Given the description of an element on the screen output the (x, y) to click on. 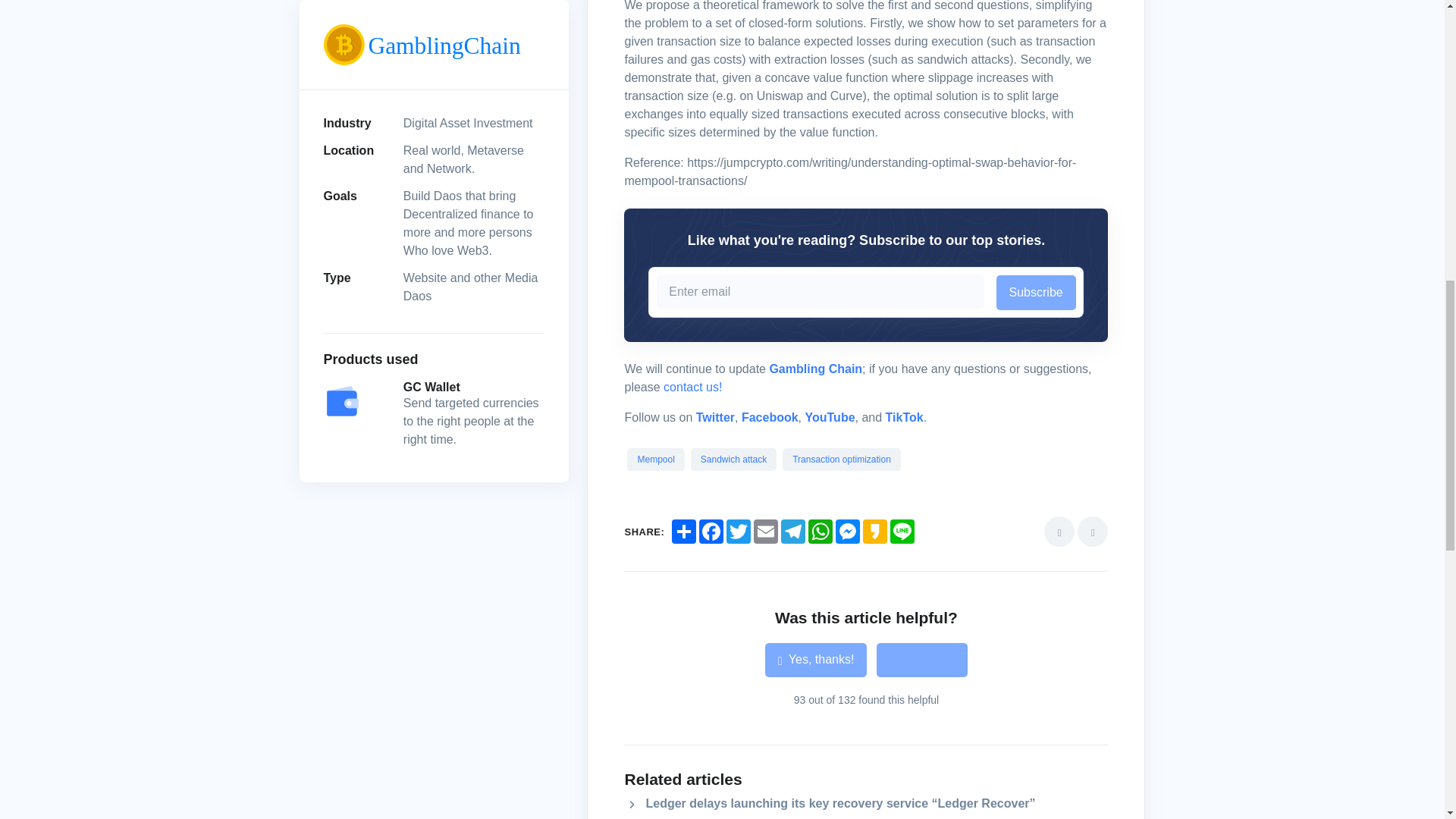
Twitter (738, 531)
YouTube (829, 417)
Gambling Chain (814, 368)
Transaction optimization (841, 459)
Twitter (715, 417)
Bookmark story (1058, 531)
Email (765, 531)
Kakao (874, 531)
Facebook (711, 531)
WhatsApp (820, 531)
